Given the description of an element on the screen output the (x, y) to click on. 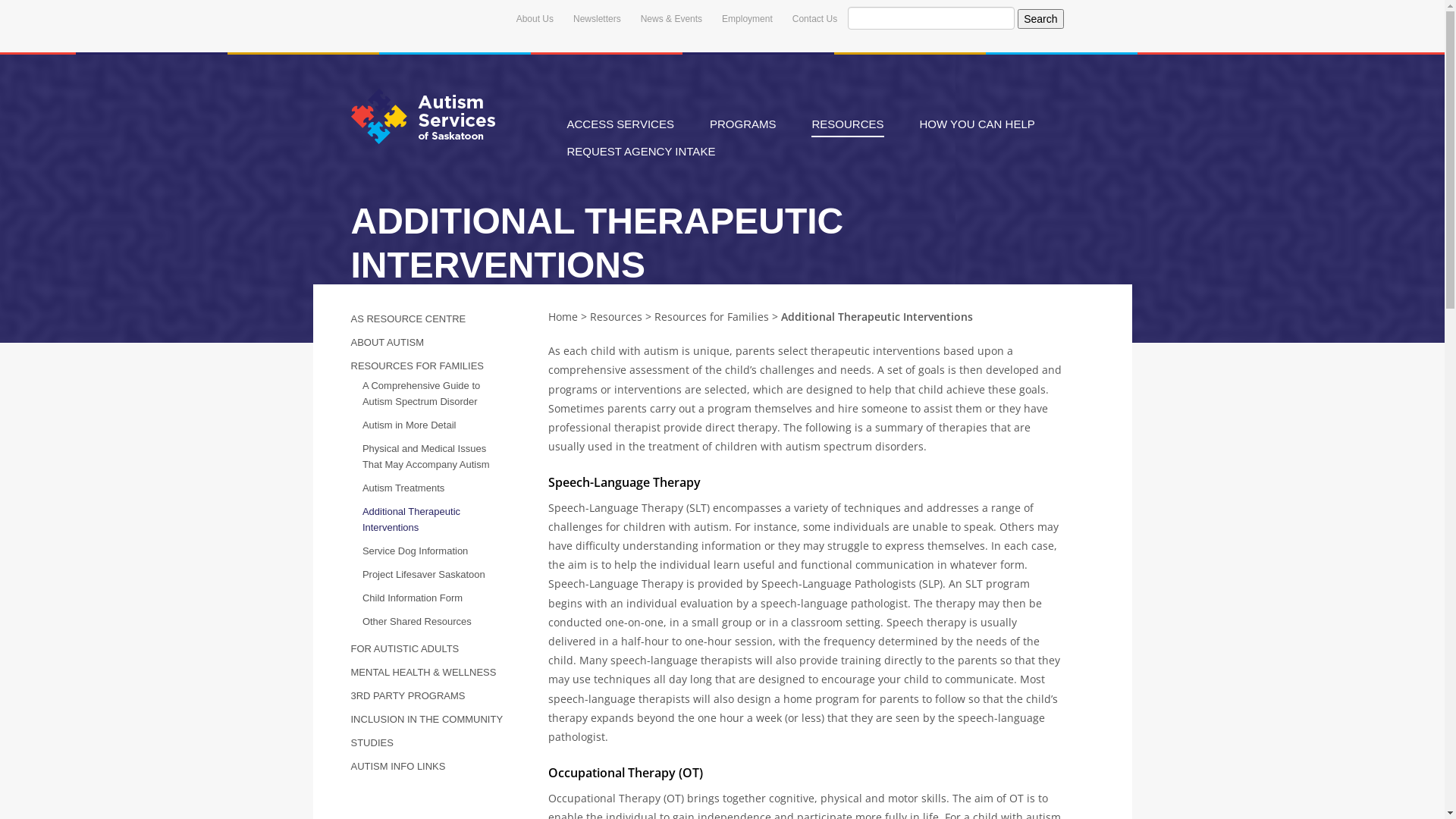
Other Shared Resources Element type: text (416, 621)
Additional Therapeutic Interventions Element type: text (411, 519)
Project Lifesaver Saskatoon Element type: text (423, 574)
Contact Us Element type: text (814, 18)
ACCESS SERVICES Element type: text (620, 124)
Service Dog Information Element type: text (414, 550)
REQUEST AGENCY INTAKE Element type: text (641, 152)
About Us Element type: text (534, 18)
MENTAL HEALTH & WELLNESS Element type: text (422, 671)
3RD PARTY PROGRAMS Element type: text (407, 695)
HOW YOU CAN HELP Element type: text (976, 124)
Autism Treatments Element type: text (403, 487)
Physical and Medical Issues That May Accompany Autism Element type: text (425, 456)
A Comprehensive Guide to Autism Spectrum Disorder Element type: text (421, 393)
Home Element type: text (562, 316)
RESOURCES FOR FAMILIES Element type: text (416, 365)
Resources for Families Element type: text (710, 316)
STUDIES Element type: text (371, 742)
Child Information Form Element type: text (412, 597)
Search Element type: text (1040, 18)
FOR AUTISTIC ADULTS Element type: text (404, 648)
News & Events Element type: text (671, 18)
Autism in More Detail Element type: text (409, 424)
ABOUT AUTISM Element type: text (386, 342)
INCLUSION IN THE COMMUNITY Element type: text (426, 718)
PROGRAMS Element type: text (742, 124)
Employment Element type: text (746, 18)
AS RESOURCE CENTRE Element type: text (407, 318)
AUTISM INFO LINKS Element type: text (397, 765)
RESOURCES Element type: text (847, 124)
Newsletters Element type: text (597, 18)
Resources Element type: text (615, 316)
